Given the description of an element on the screen output the (x, y) to click on. 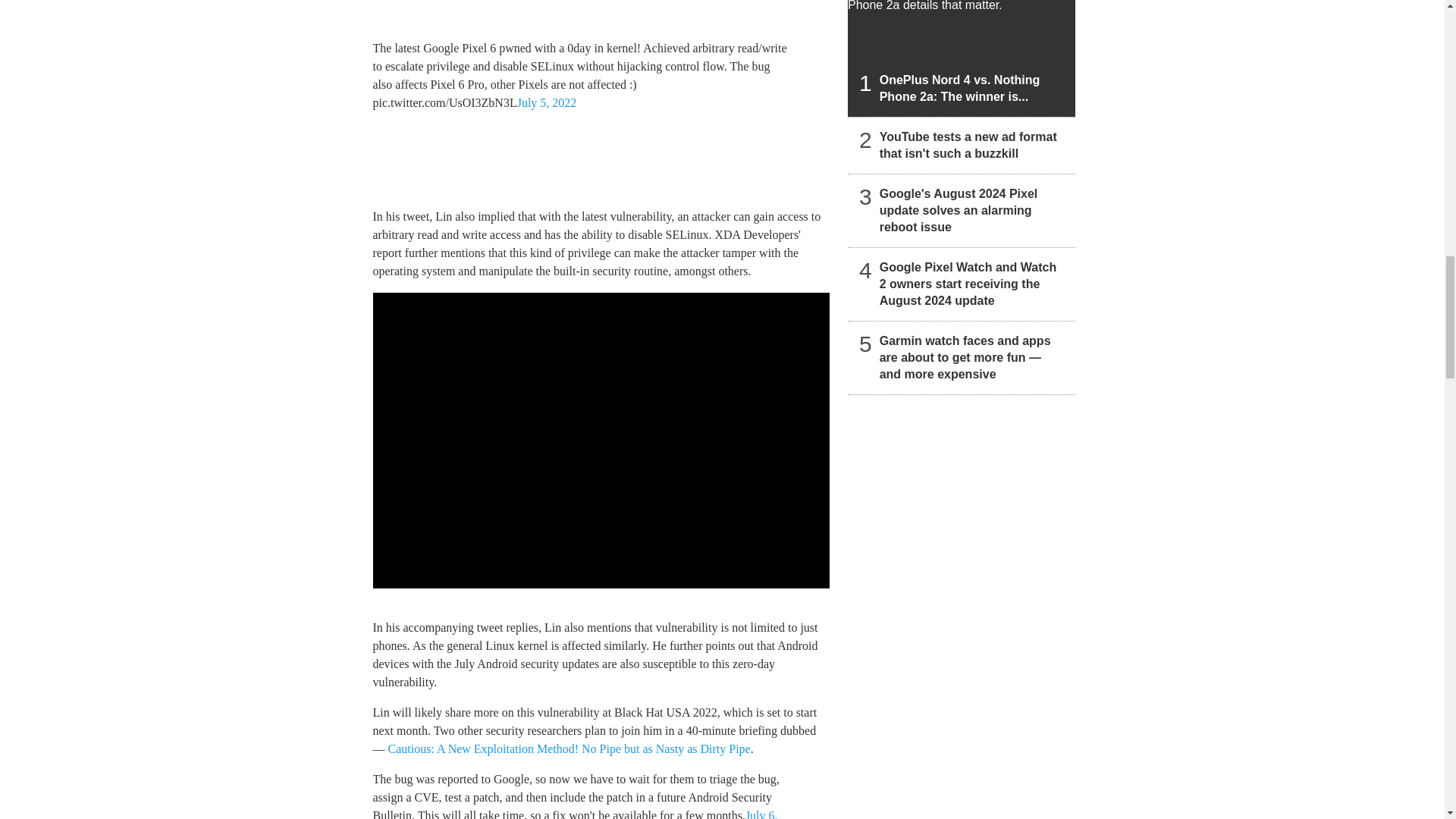
OnePlus Nord 4 vs. Nothing Phone 2a: The winner is... (961, 58)
